Given the description of an element on the screen output the (x, y) to click on. 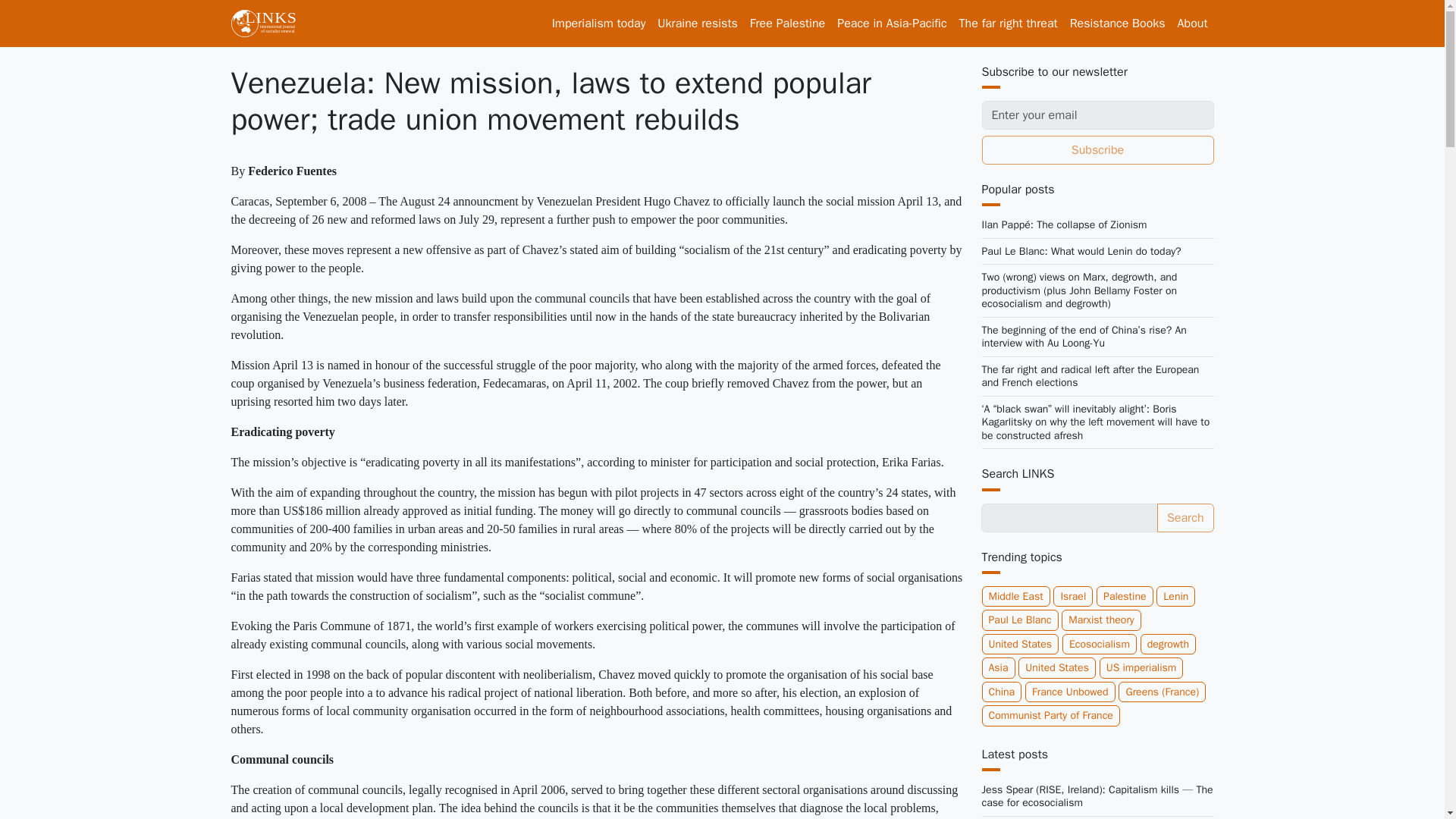
Israel (1072, 596)
Subscribe (1096, 149)
Paul Le Blanc: What would Lenin do today? (1080, 250)
Imperialism today (599, 23)
About (1193, 23)
Home (268, 22)
Search (1185, 517)
Resistance Books (1118, 23)
Palestine (1124, 596)
Subscribe (1096, 149)
Peace in Asia-Pacific (891, 23)
Middle East (1015, 596)
Free Palestine (787, 23)
Search (1185, 517)
